Given the description of an element on the screen output the (x, y) to click on. 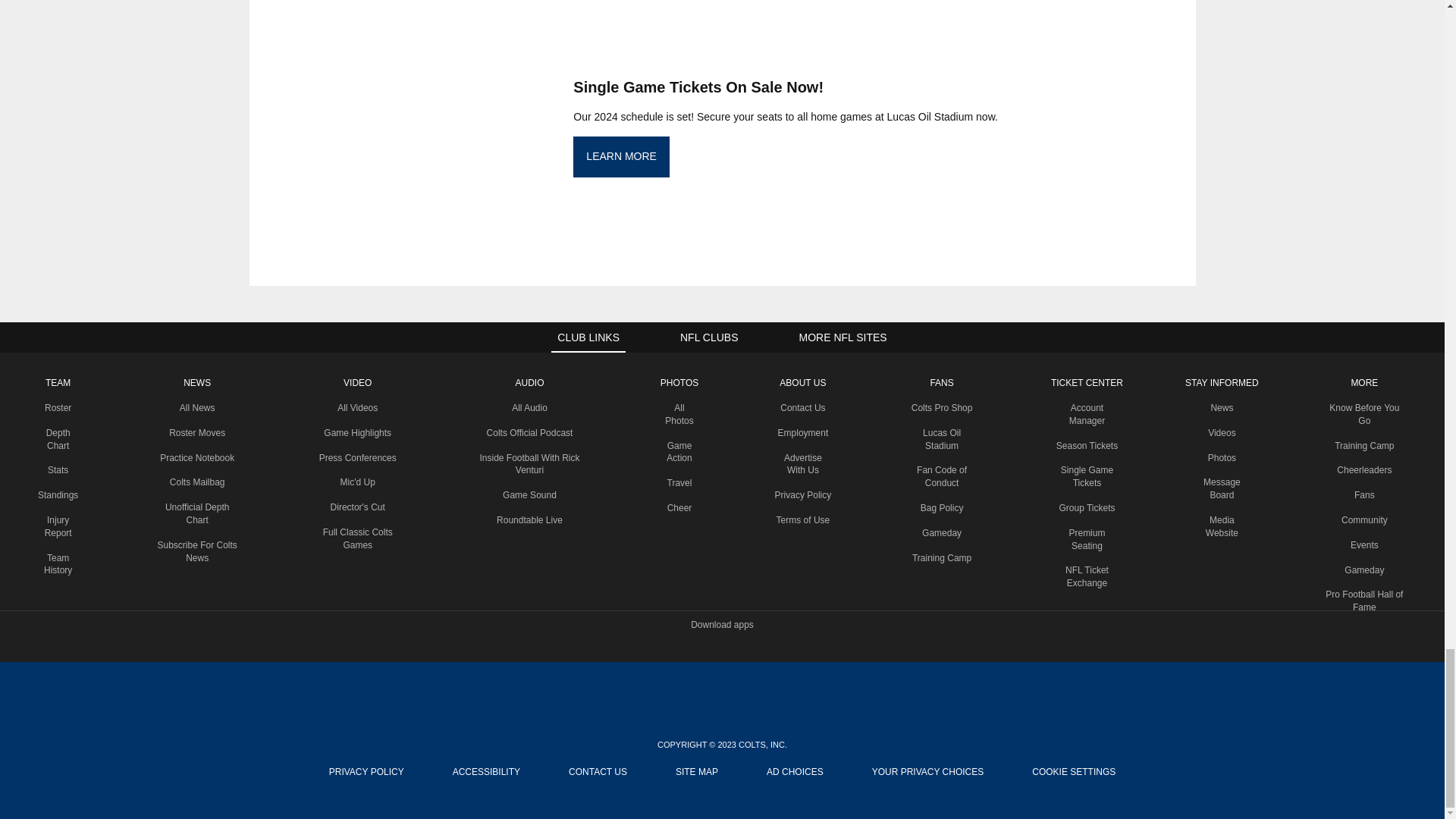
Depth Chart (57, 439)
CLUB LINKS (588, 337)
Roster (58, 407)
Team History (57, 564)
Stats (58, 470)
TEAM (57, 382)
NEWS (197, 382)
LEARN MORE (621, 156)
Injury Report (58, 526)
Standings (57, 494)
